Given the description of an element on the screen output the (x, y) to click on. 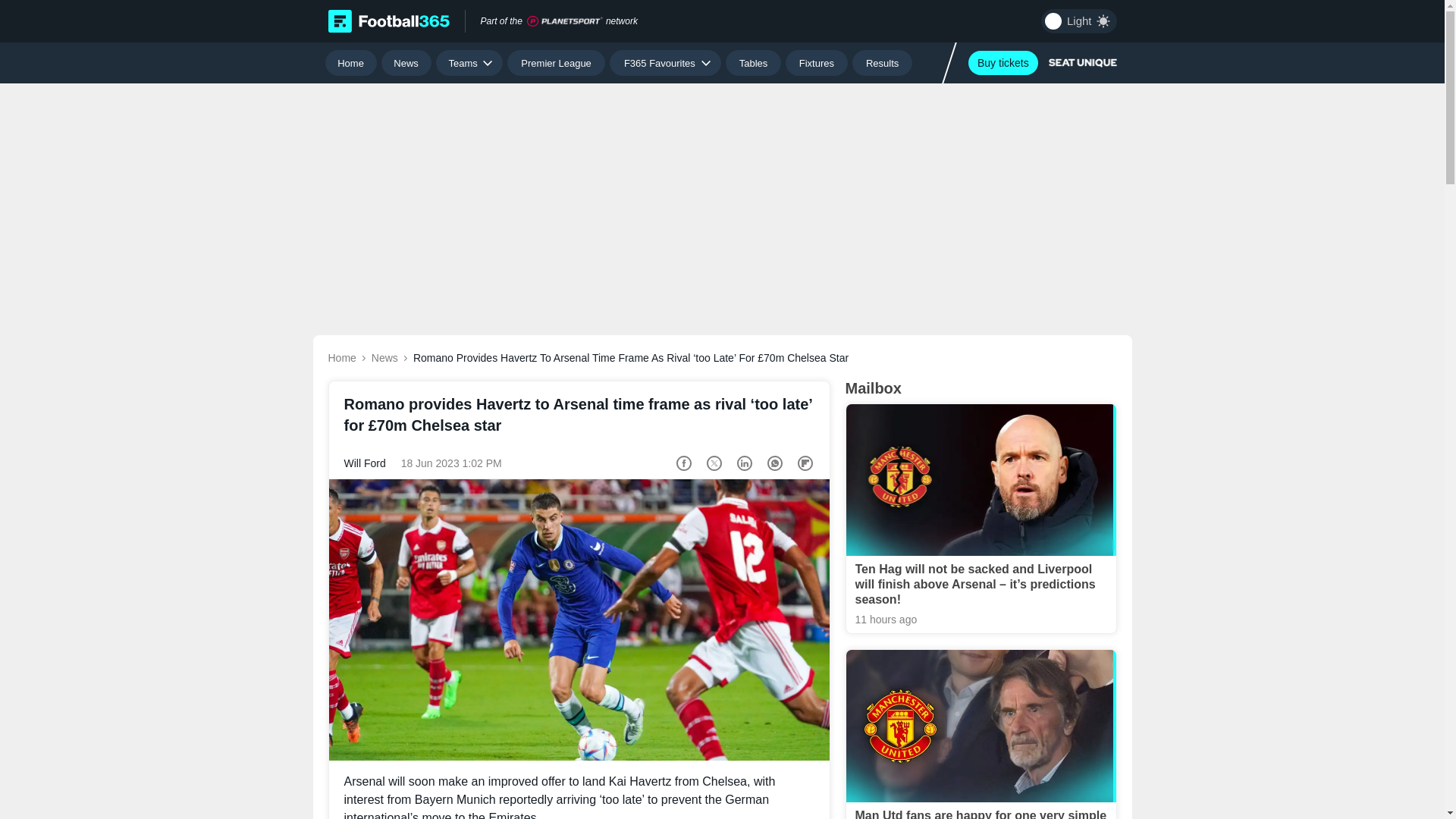
Fixtures (817, 62)
F365 Favourites (665, 62)
Tables (752, 62)
News (405, 62)
Home (349, 62)
Premier League (555, 62)
Teams (468, 62)
